Given the description of an element on the screen output the (x, y) to click on. 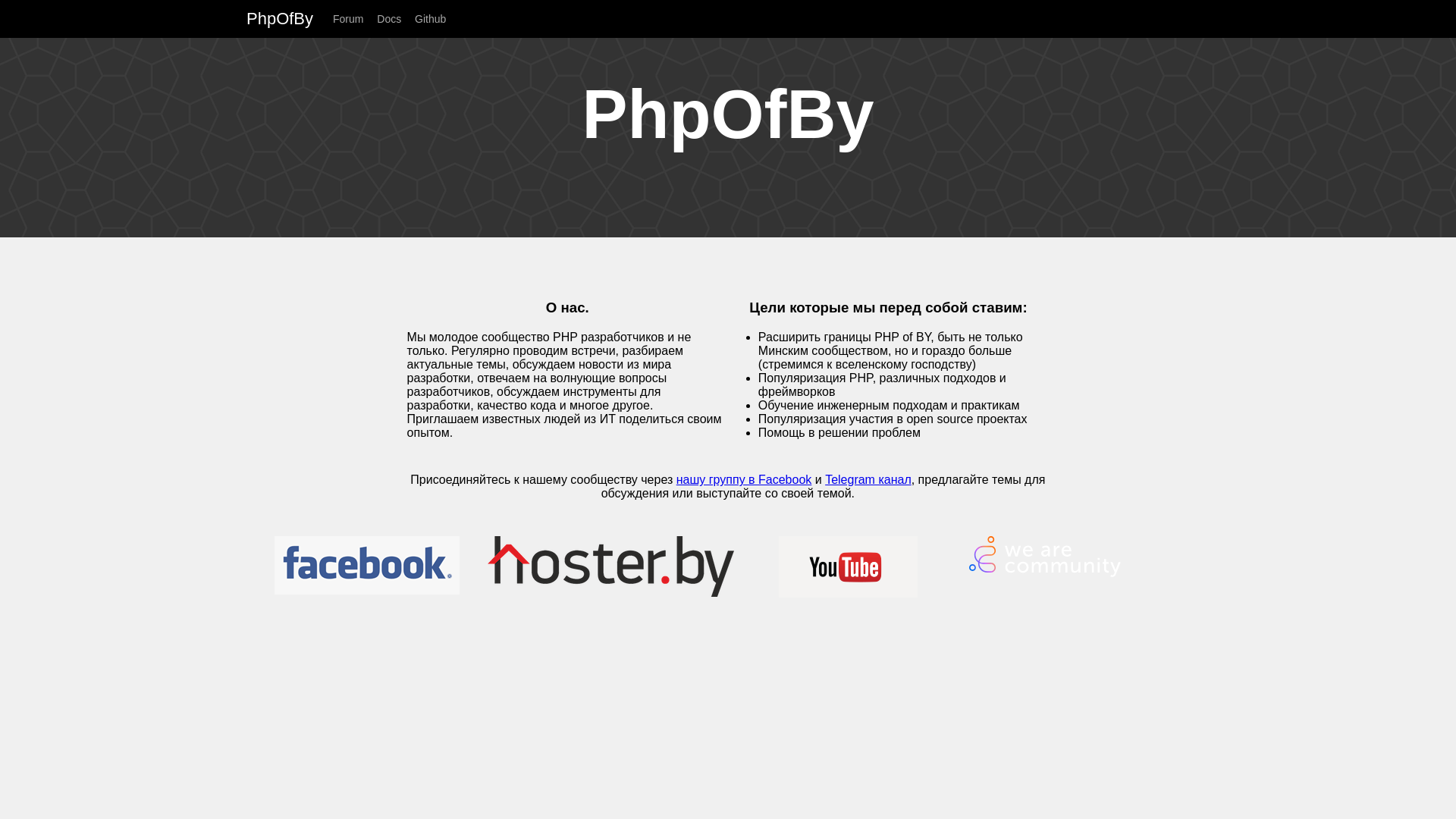
Github Element type: text (435, 18)
Docs Element type: text (393, 18)
Forum Element type: text (352, 18)
PhpOfBy Element type: text (287, 18)
